Given the description of an element on the screen output the (x, y) to click on. 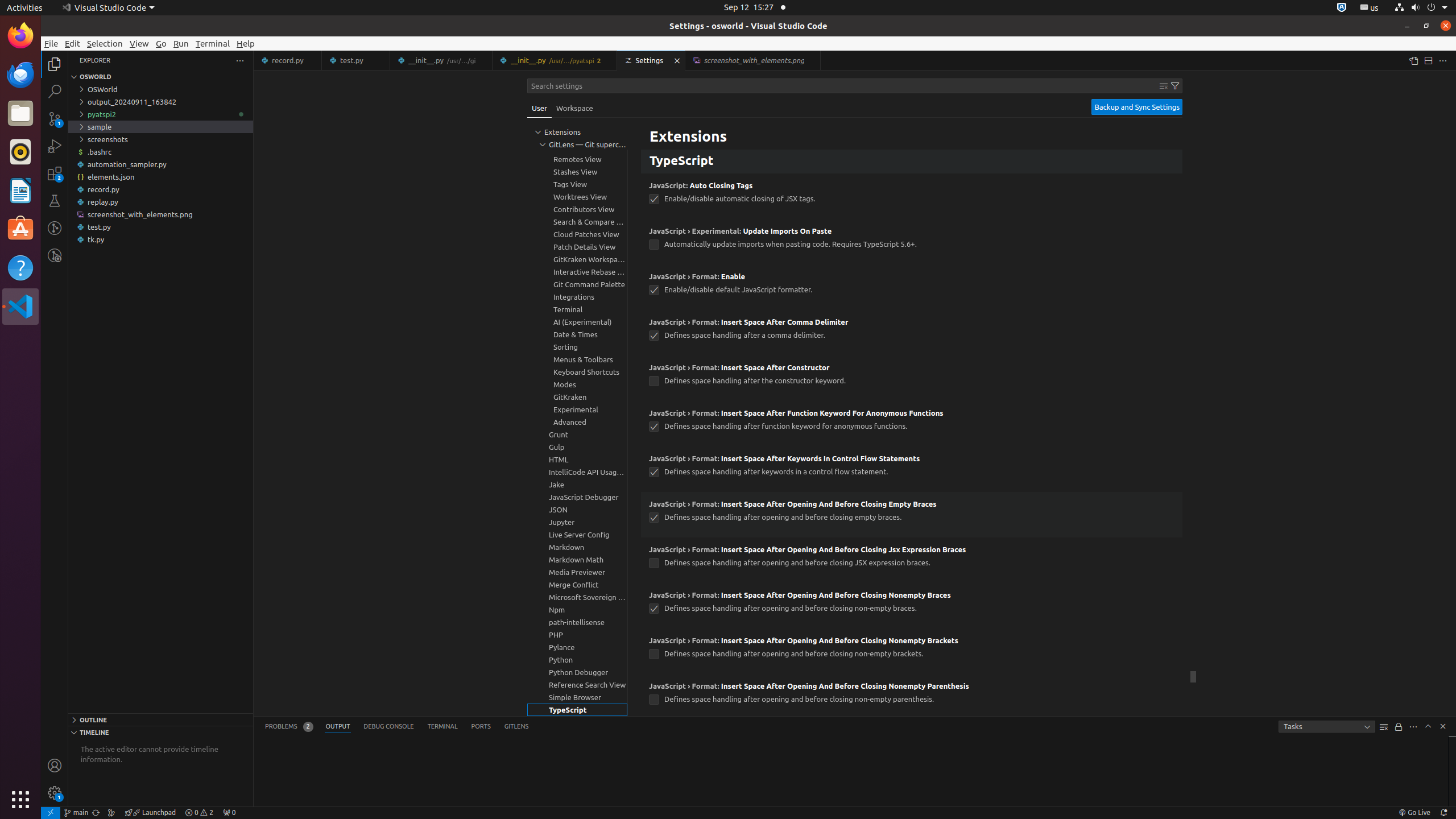
Keyboard Shortcuts, group Element type: tree-item (577, 371)
JavaScript › Format Insert Space After Comma Delimiter. Defines space handling after a comma delimiter.  Element type: tree-item (911, 332)
screenshots Element type: tree-item (160, 139)
Terminal (Ctrl+`) Element type: page-tab (442, 726)
Terminal, group Element type: tree-item (577, 309)
